Given the description of an element on the screen output the (x, y) to click on. 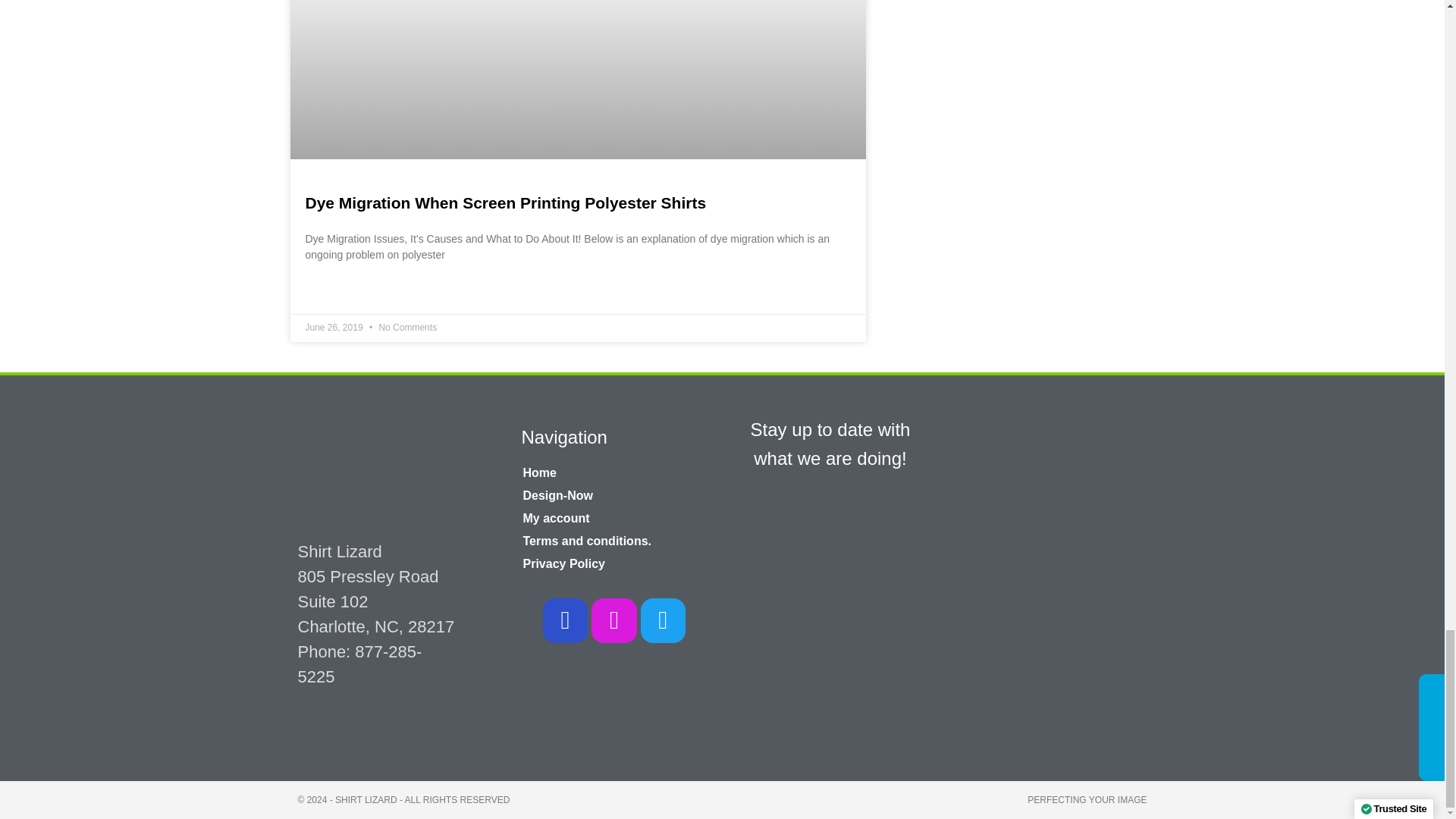
Dye Migration When Screen Printing Polyester Shirts (505, 202)
